Given the description of an element on the screen output the (x, y) to click on. 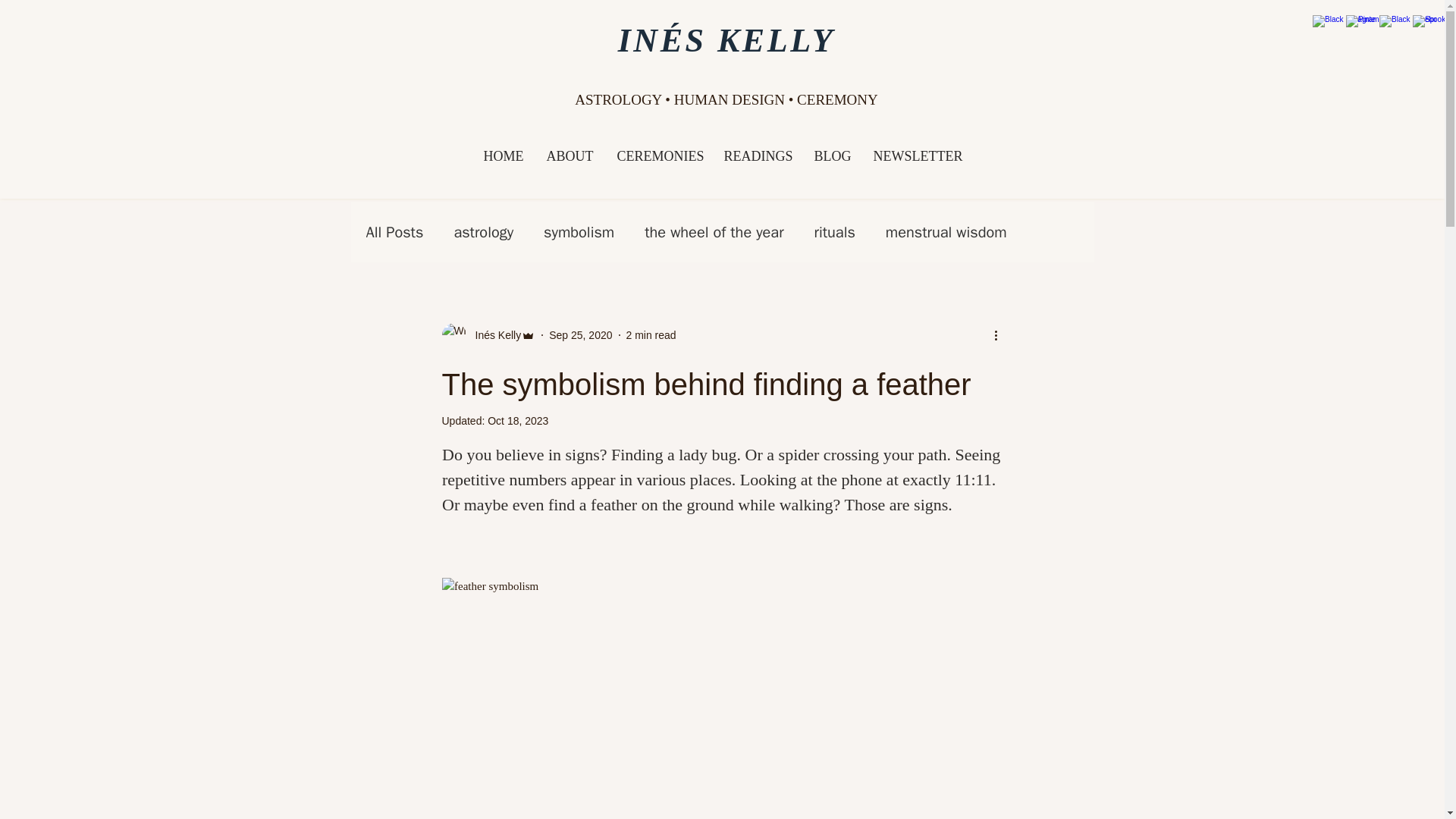
HOME (502, 156)
2 min read (651, 335)
CEREMONIES (658, 156)
symbolism (578, 231)
Sep 25, 2020 (579, 335)
menstrual wisdom (946, 231)
rituals (834, 231)
READINGS (758, 156)
astrology (482, 231)
NEWSLETTER (915, 156)
